Given the description of an element on the screen output the (x, y) to click on. 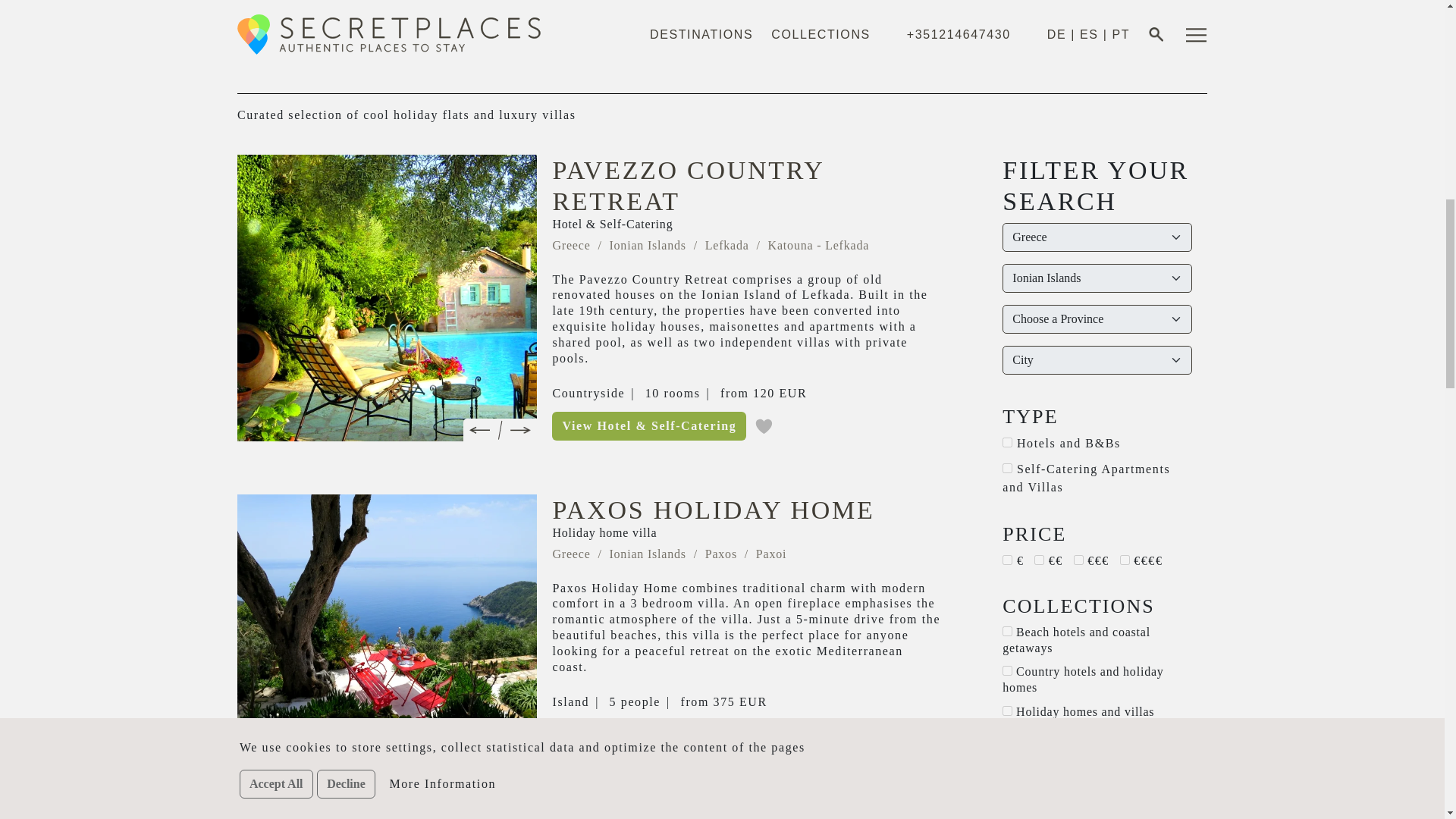
1 (1038, 560)
16 (1007, 798)
31 (1007, 468)
7 (1007, 735)
20 (1007, 631)
26 (1007, 710)
3 (1007, 560)
4 (1124, 560)
18 (1007, 442)
2 (1078, 560)
9 (1007, 670)
15 (1007, 758)
